Given the description of an element on the screen output the (x, y) to click on. 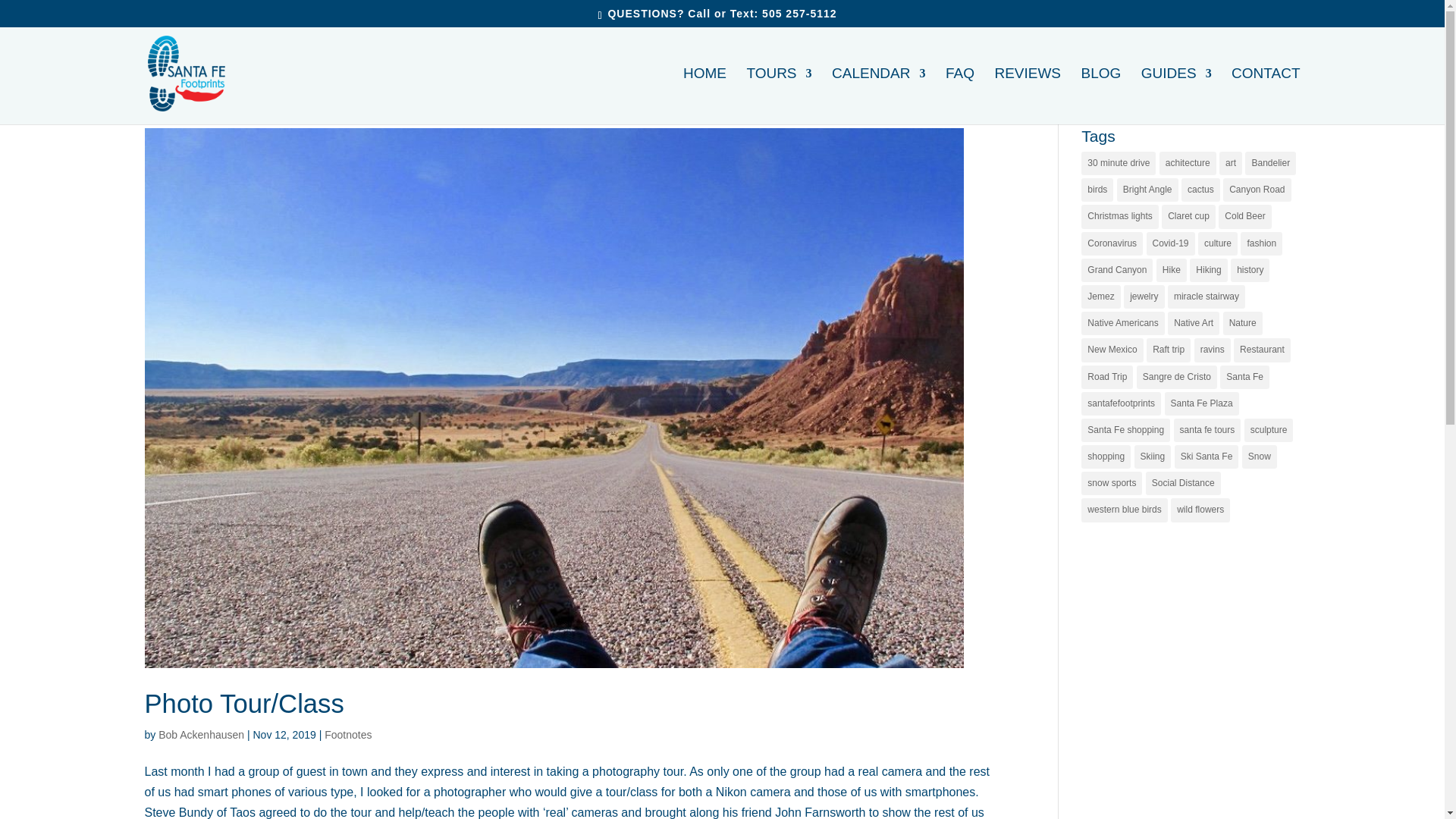
Bright Angle (1146, 189)
Canyon Road (1256, 189)
Covid-19 (1171, 243)
achitecture (1186, 163)
Cold Beer (1244, 216)
Bob Ackenhausen (201, 734)
REVIEWS (1027, 95)
Christmas lights (1119, 216)
Bandelier (1269, 163)
Posts by Bob Ackenhausen (201, 734)
